Given the description of an element on the screen output the (x, y) to click on. 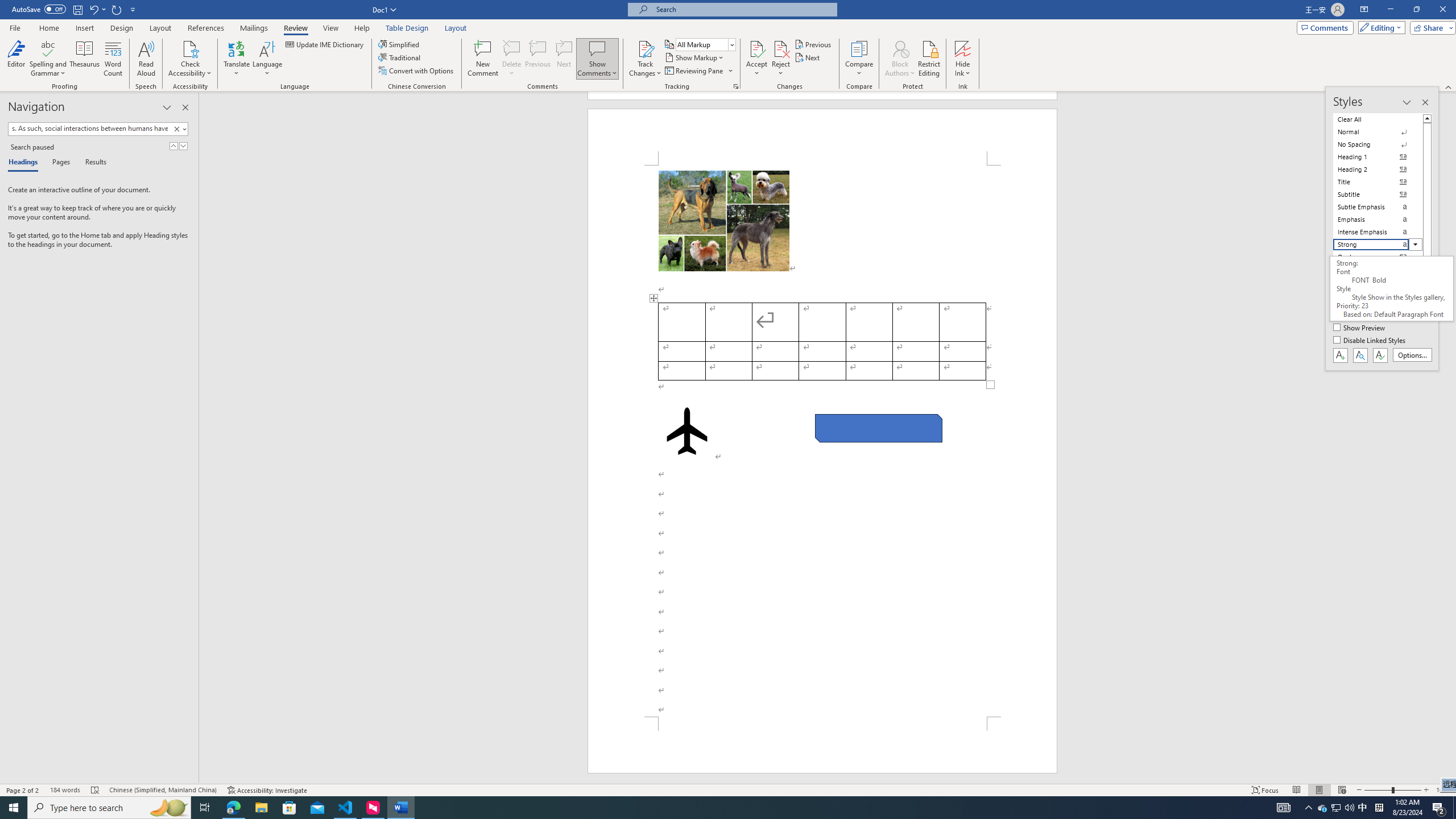
Class: NetUIScrollBar (1450, 437)
Track Changes (644, 58)
New Comment (482, 58)
Intense Quote (1377, 269)
Reject (780, 58)
Normal (1377, 131)
Previous Result (173, 145)
Change Tracking Options... (735, 85)
Subtle Reference (1377, 282)
